Given the description of an element on the screen output the (x, y) to click on. 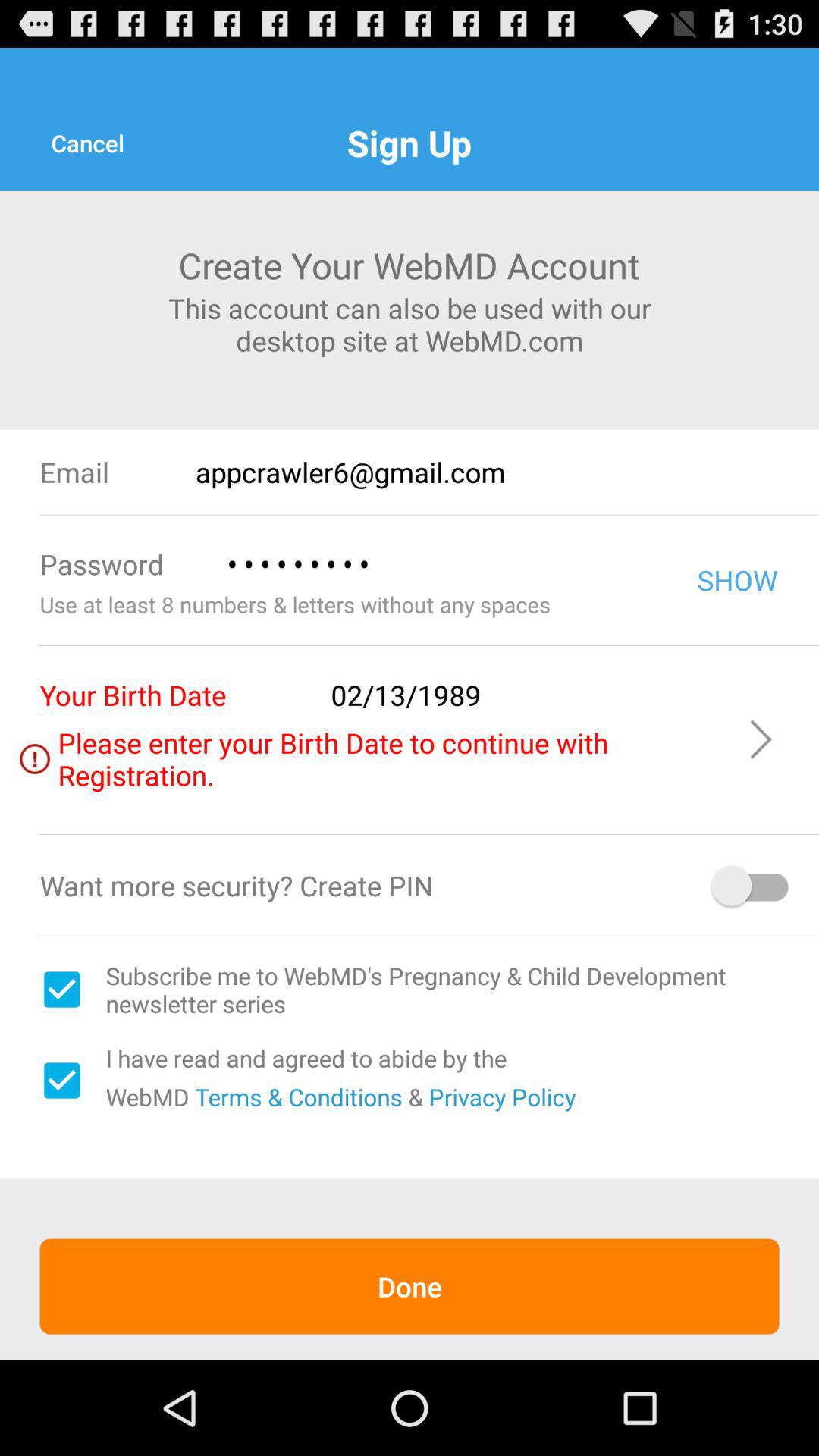
click show icon (737, 580)
